Given the description of an element on the screen output the (x, y) to click on. 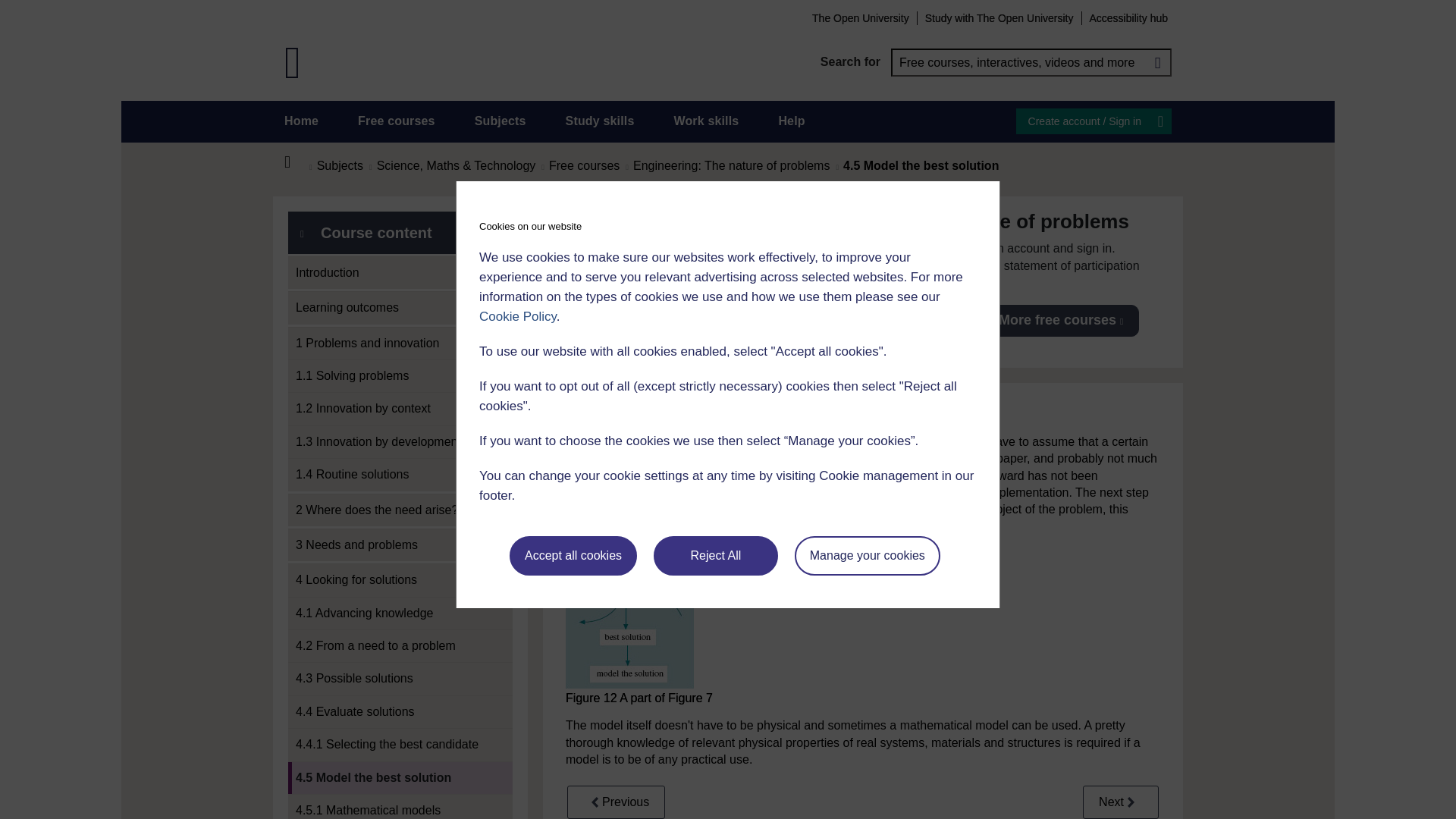
Accept all cookies (573, 555)
Work skills (705, 120)
Subjects (499, 120)
Manage your cookies (867, 555)
Help (791, 120)
Accessibility hub (1129, 17)
Home (300, 120)
Study skills (600, 120)
Reject All (715, 555)
Search (1157, 62)
